Given the description of an element on the screen output the (x, y) to click on. 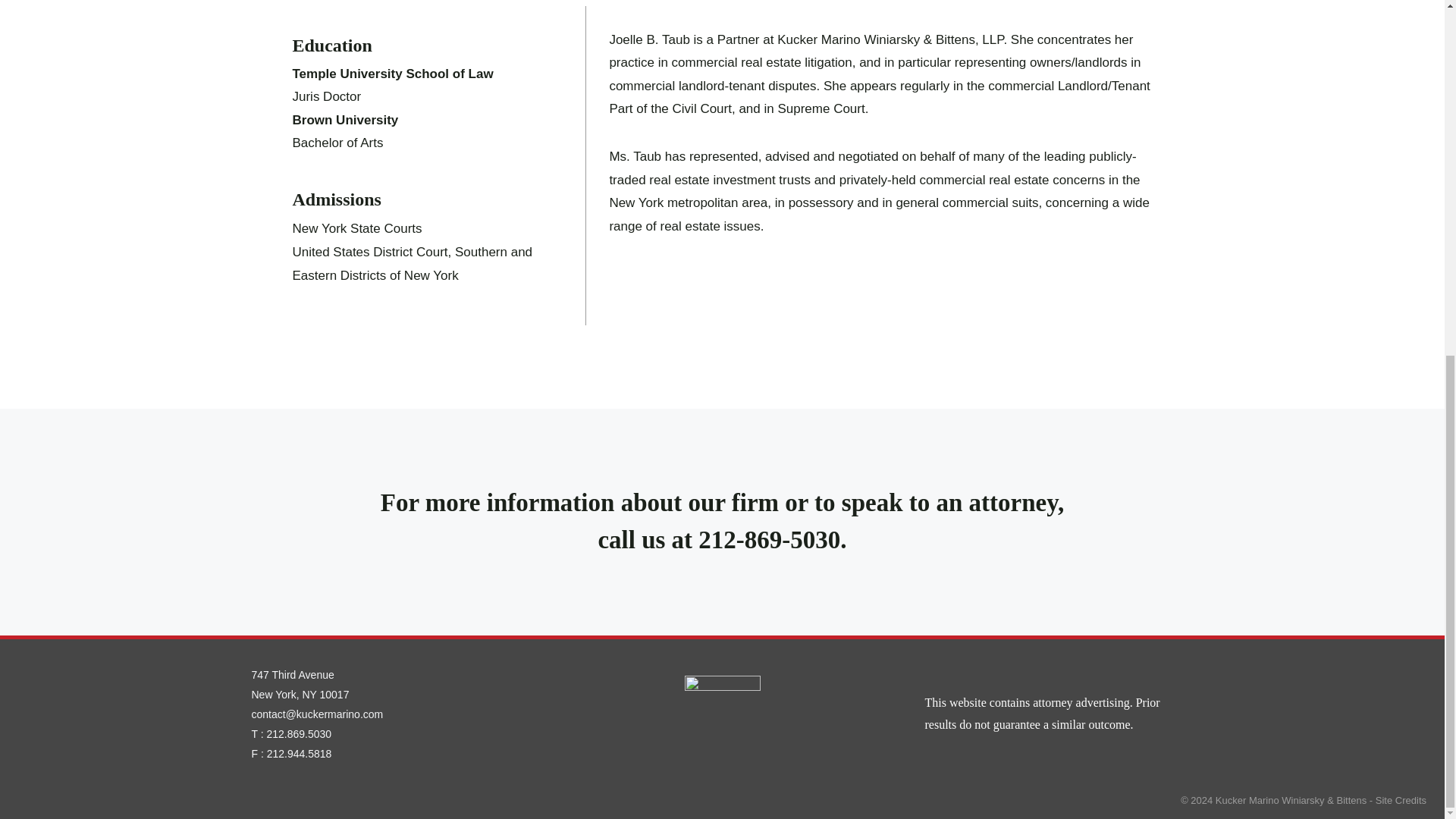
212-869-5030 (769, 539)
Site Credits (1400, 799)
212.869.5030 (298, 734)
